Given the description of an element on the screen output the (x, y) to click on. 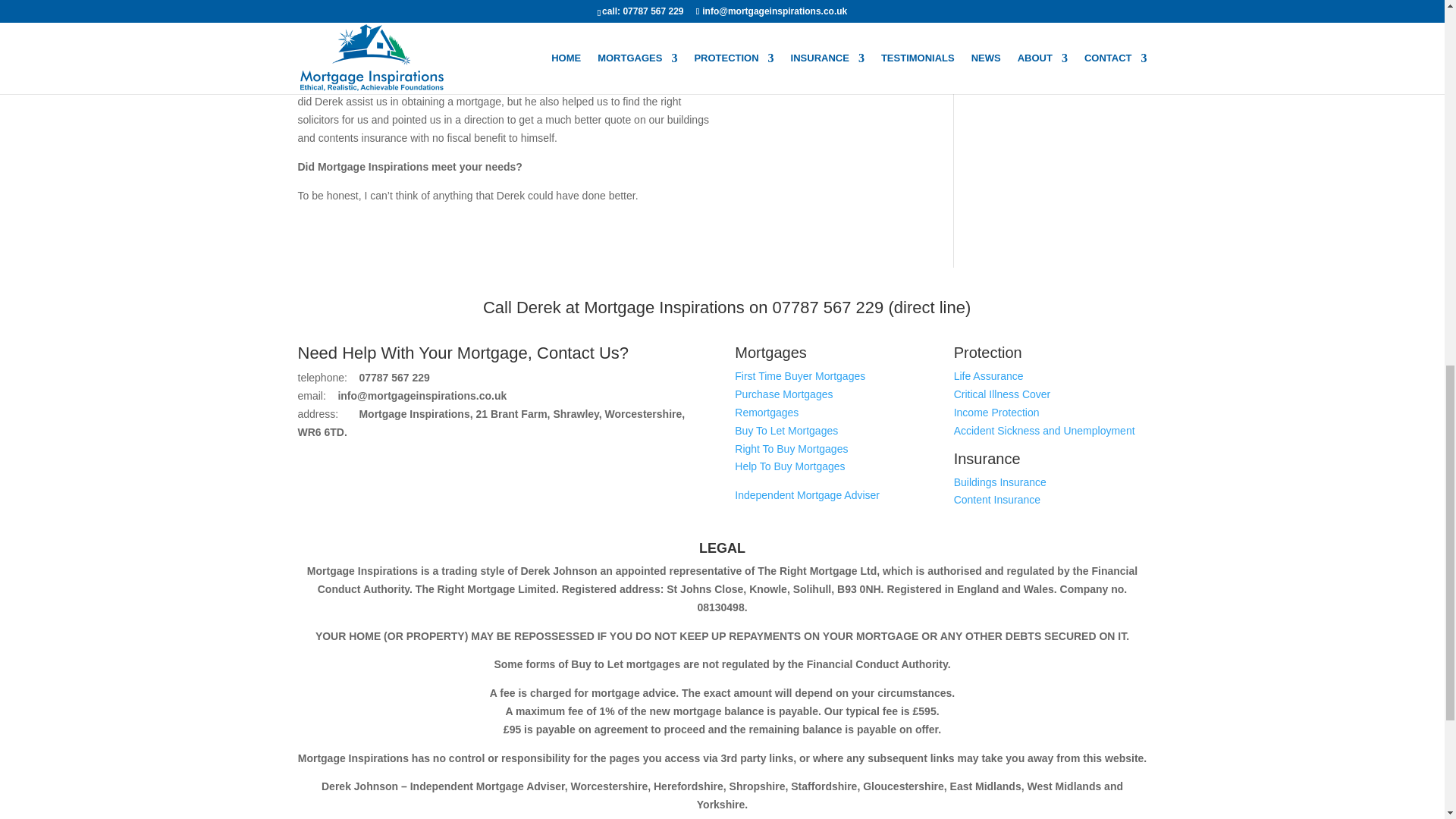
Buy To Let Mortgages (786, 430)
Independent Mortgage Adviser (807, 494)
Critical Illness Cover (1002, 394)
Remortgages (766, 412)
Purchase Mortgages (783, 394)
07787 567 229 (827, 307)
Life Assurance (988, 376)
Help To Buy Mortgages (789, 466)
First Time Buyer Mortgages (799, 376)
Right To Buy Mortgages (791, 449)
